Given the description of an element on the screen output the (x, y) to click on. 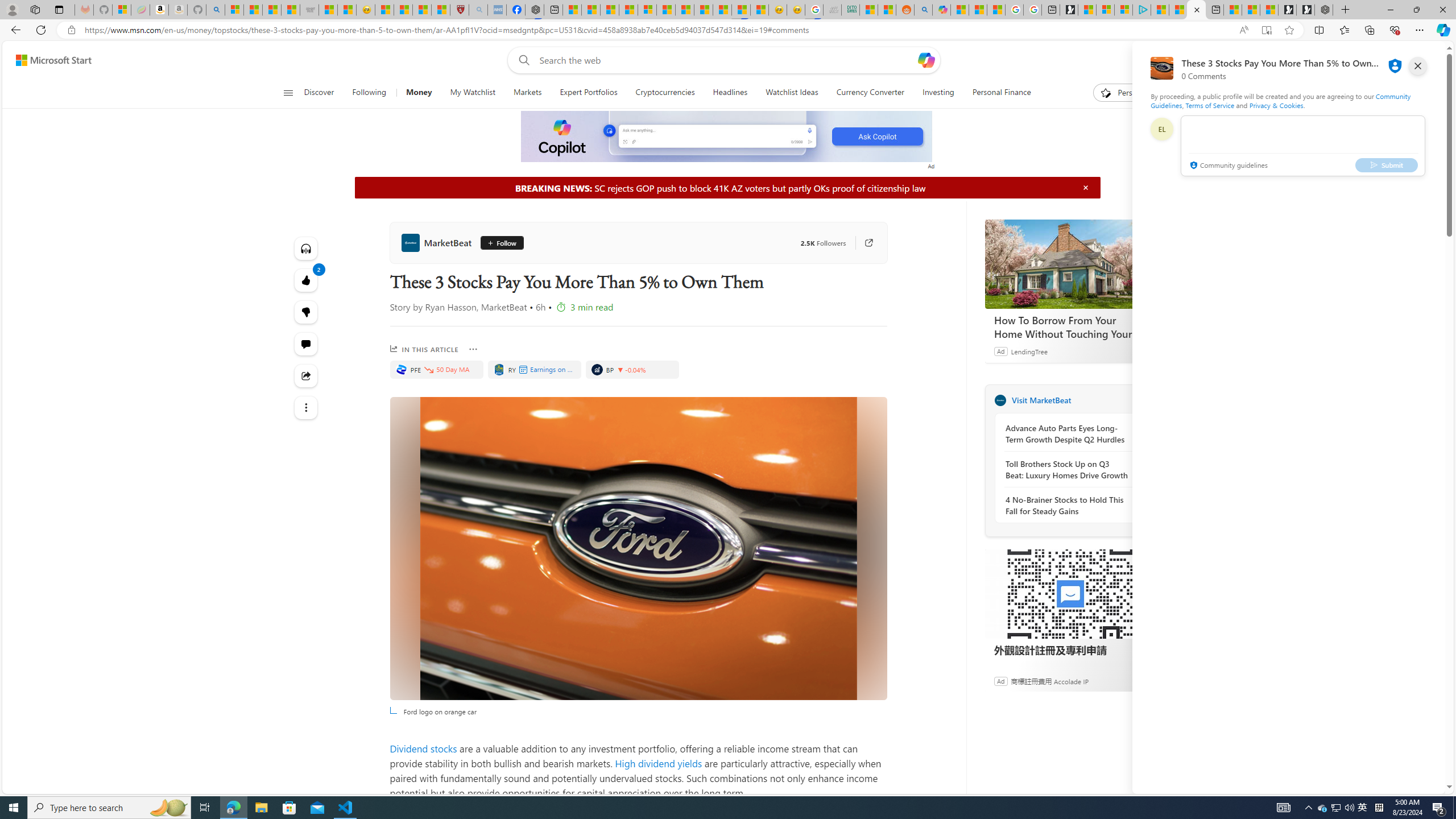
Dividend stocks (423, 748)
Markets (526, 92)
Utah sues federal government - Search (923, 9)
Expert Portfolios (588, 92)
Microsoft Start Gaming (1069, 9)
